Given the description of an element on the screen output the (x, y) to click on. 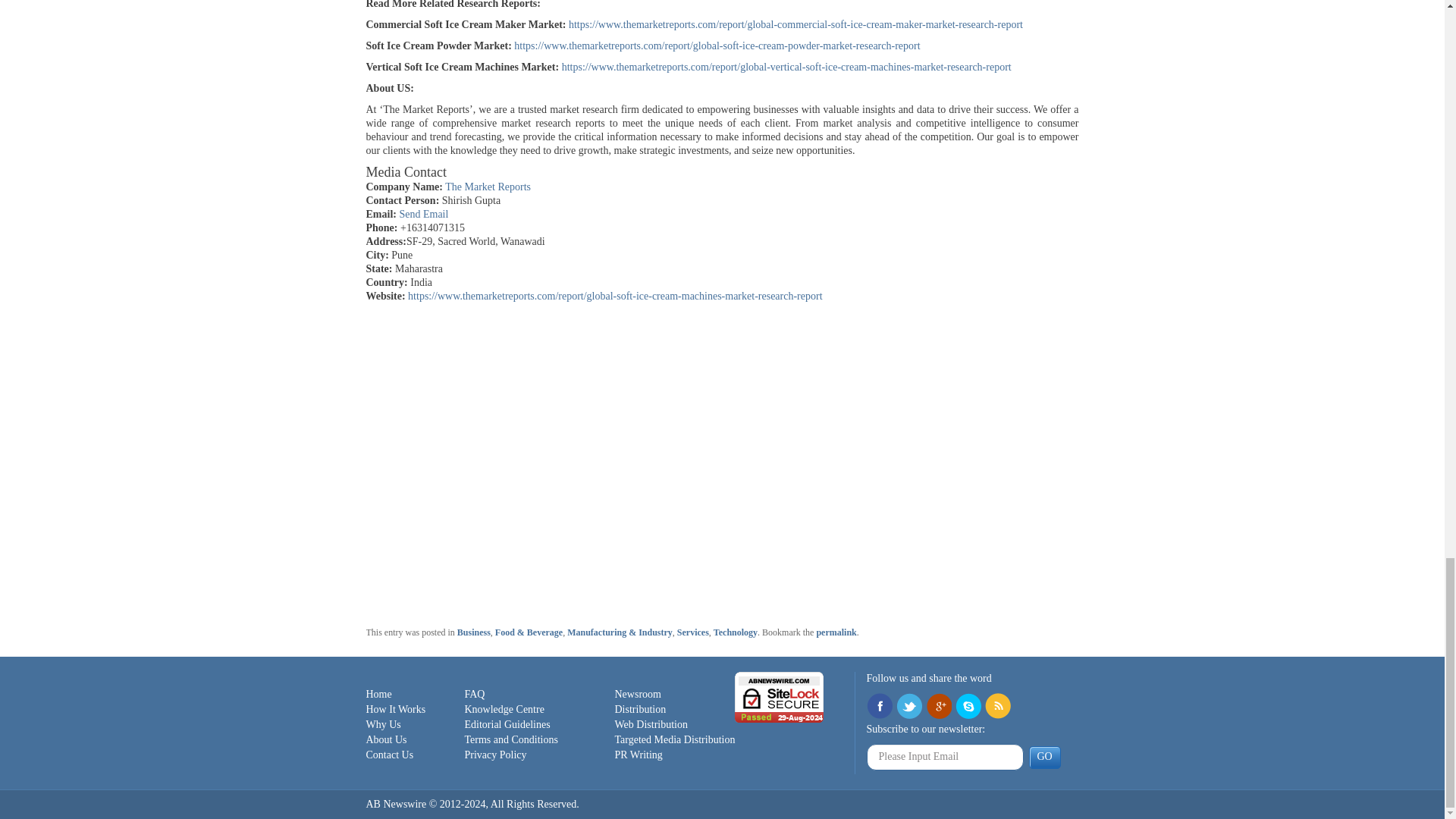
GO (1043, 757)
Please Input Email (944, 756)
SiteLock (779, 696)
